Given the description of an element on the screen output the (x, y) to click on. 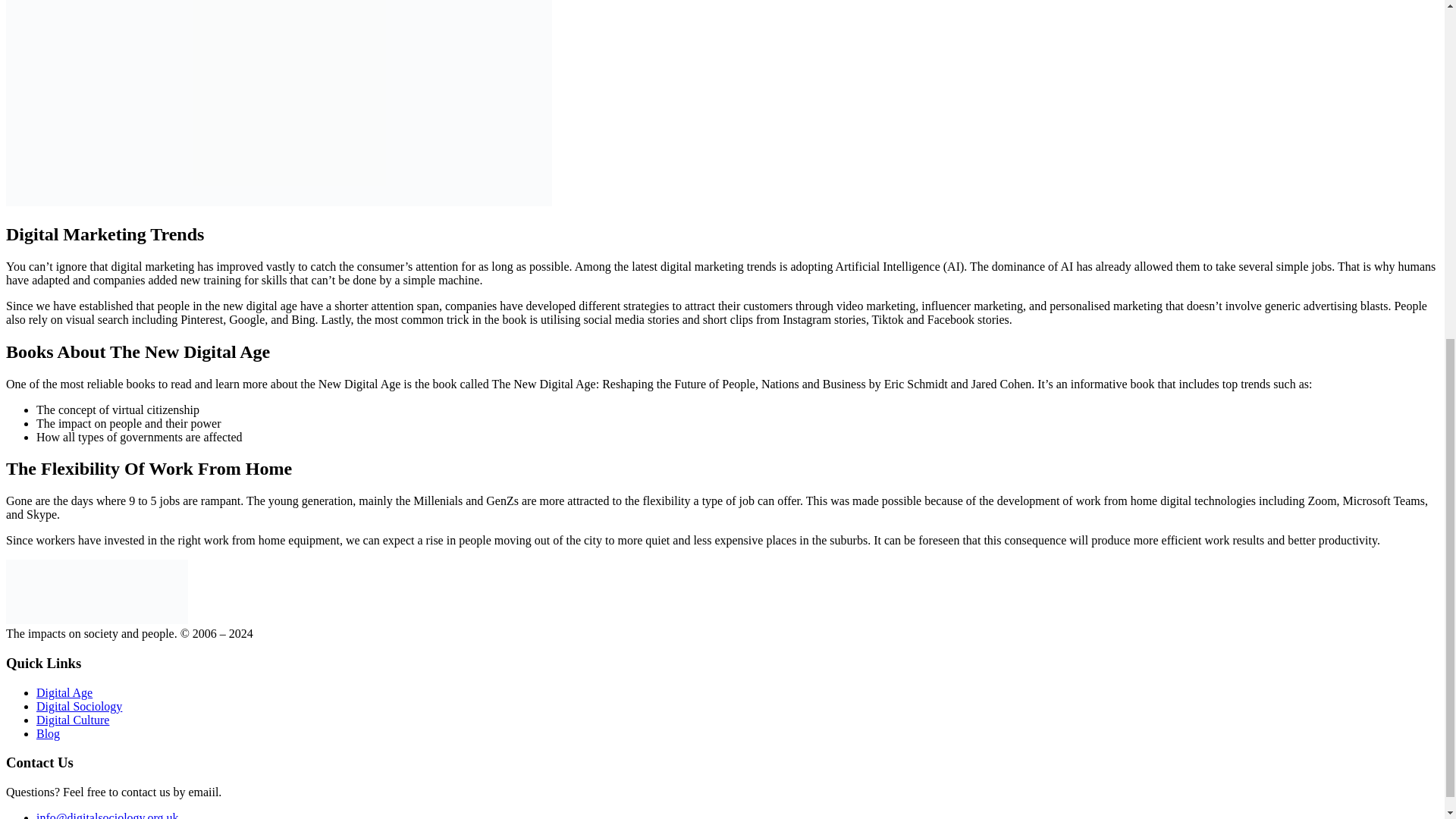
Blog (47, 733)
Digital Age (64, 692)
Digital Culture (72, 719)
Digital Sociology (79, 706)
